Given the description of an element on the screen output the (x, y) to click on. 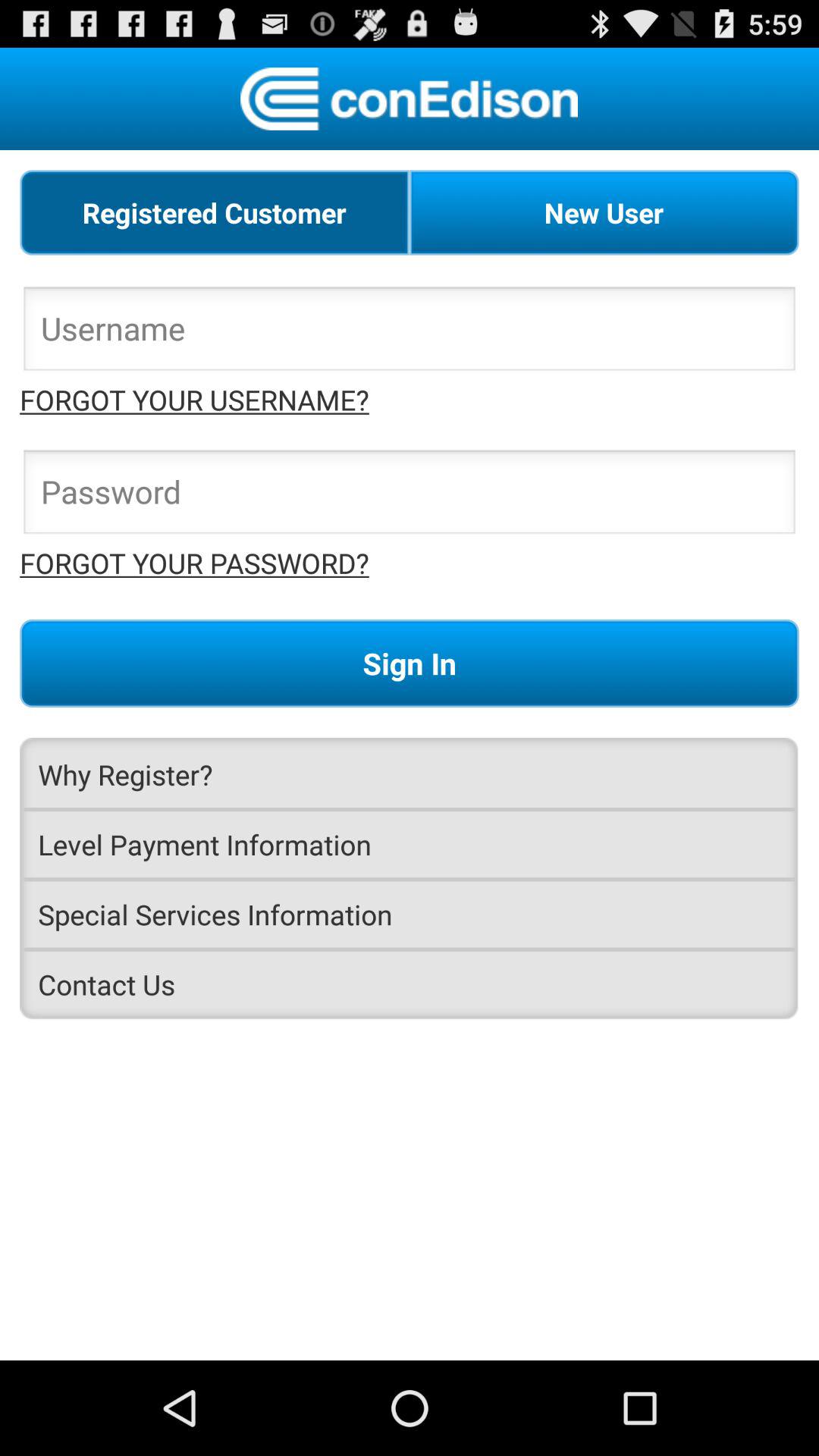
click the why register? (409, 774)
